Given the description of an element on the screen output the (x, y) to click on. 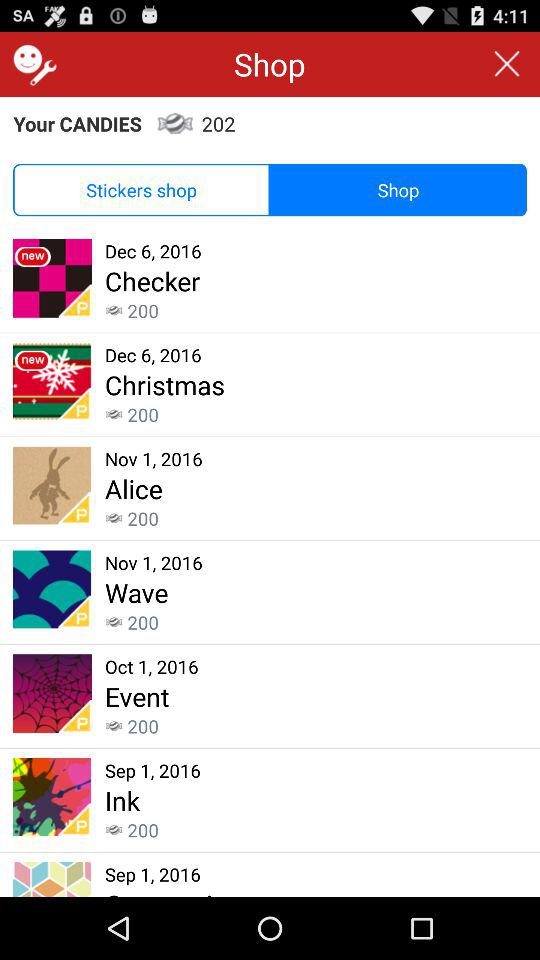
choose the item above shop icon (506, 64)
